Given the description of an element on the screen output the (x, y) to click on. 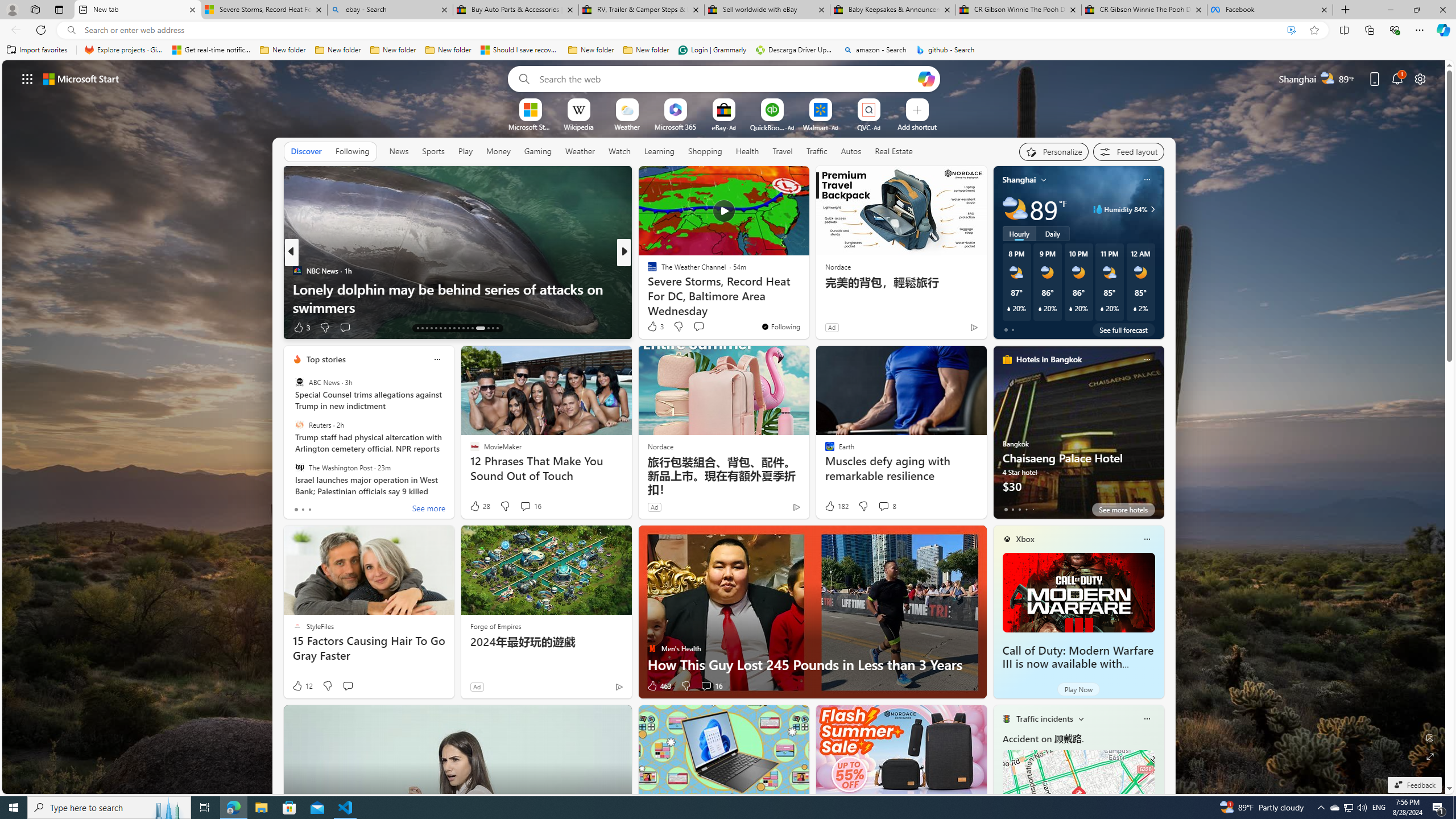
Sell worldwide with eBay (766, 9)
Add a site (916, 126)
Class: icon-img (1146, 718)
View comments 8 Comment (887, 505)
AutomationID: tab-23 (462, 328)
Travel (782, 151)
tab-2 (1019, 509)
AutomationID: tab-15 (426, 328)
Gaming (537, 151)
